Given the description of an element on the screen output the (x, y) to click on. 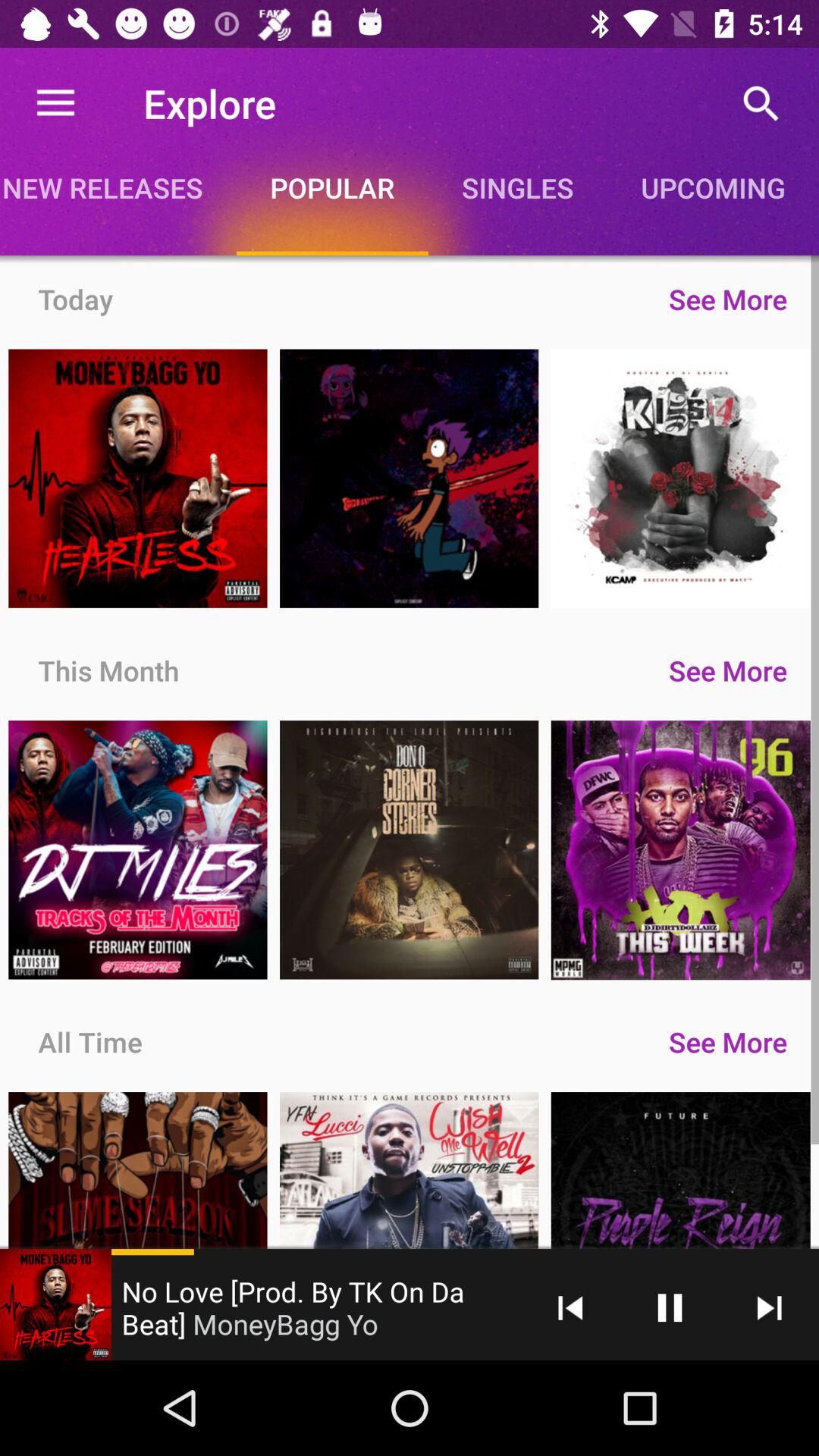
click the app next to singles item (332, 187)
